Given the description of an element on the screen output the (x, y) to click on. 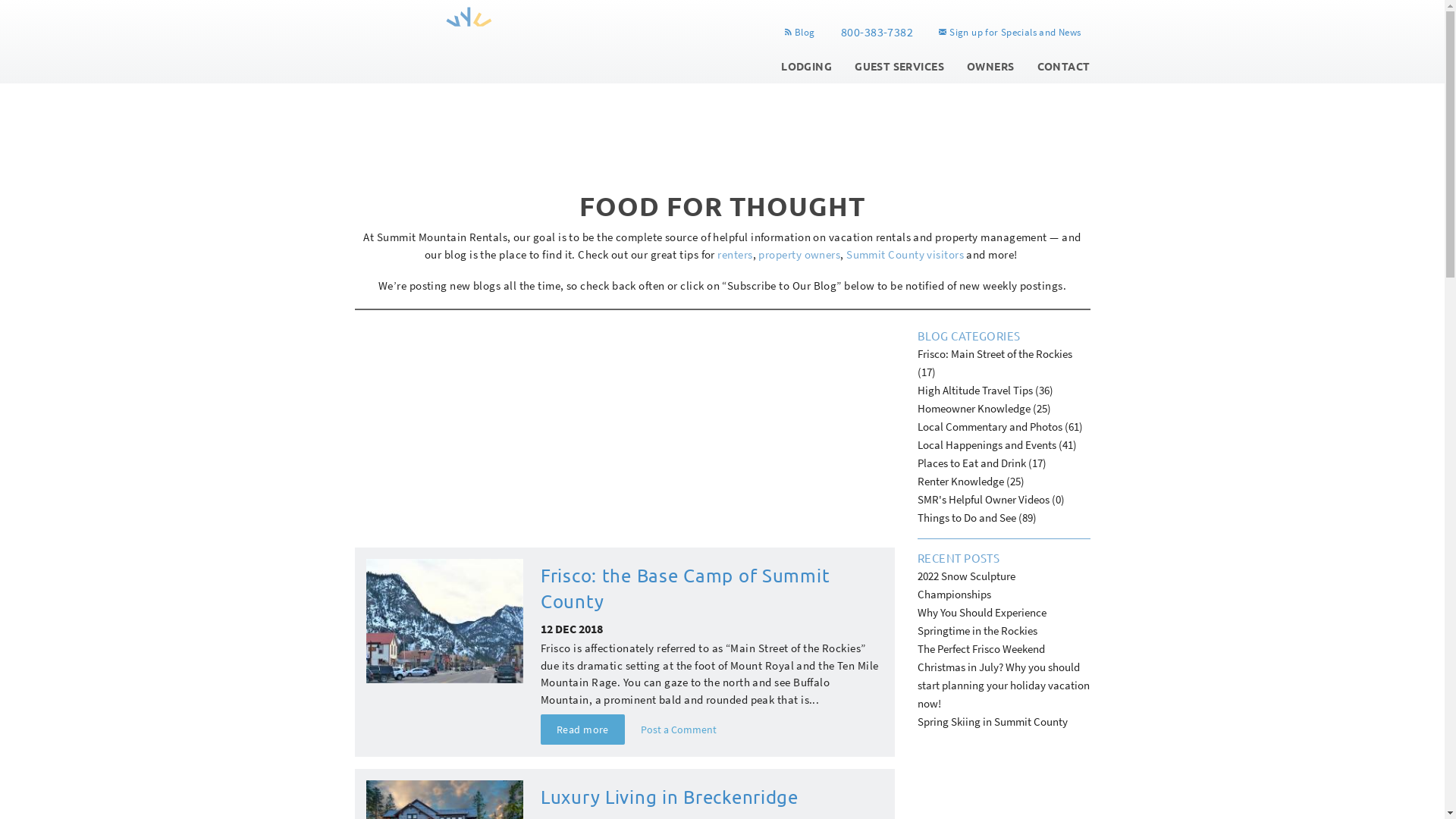
Blog (800, 32)
CONTACT (1064, 66)
GUEST SERVICES (899, 66)
800-383-7382 (877, 33)
Home (469, 36)
Home (423, 76)
LODGING (806, 66)
Summit Mountain Rentals (423, 76)
Sign up for Specials and News (1009, 32)
